Given the description of an element on the screen output the (x, y) to click on. 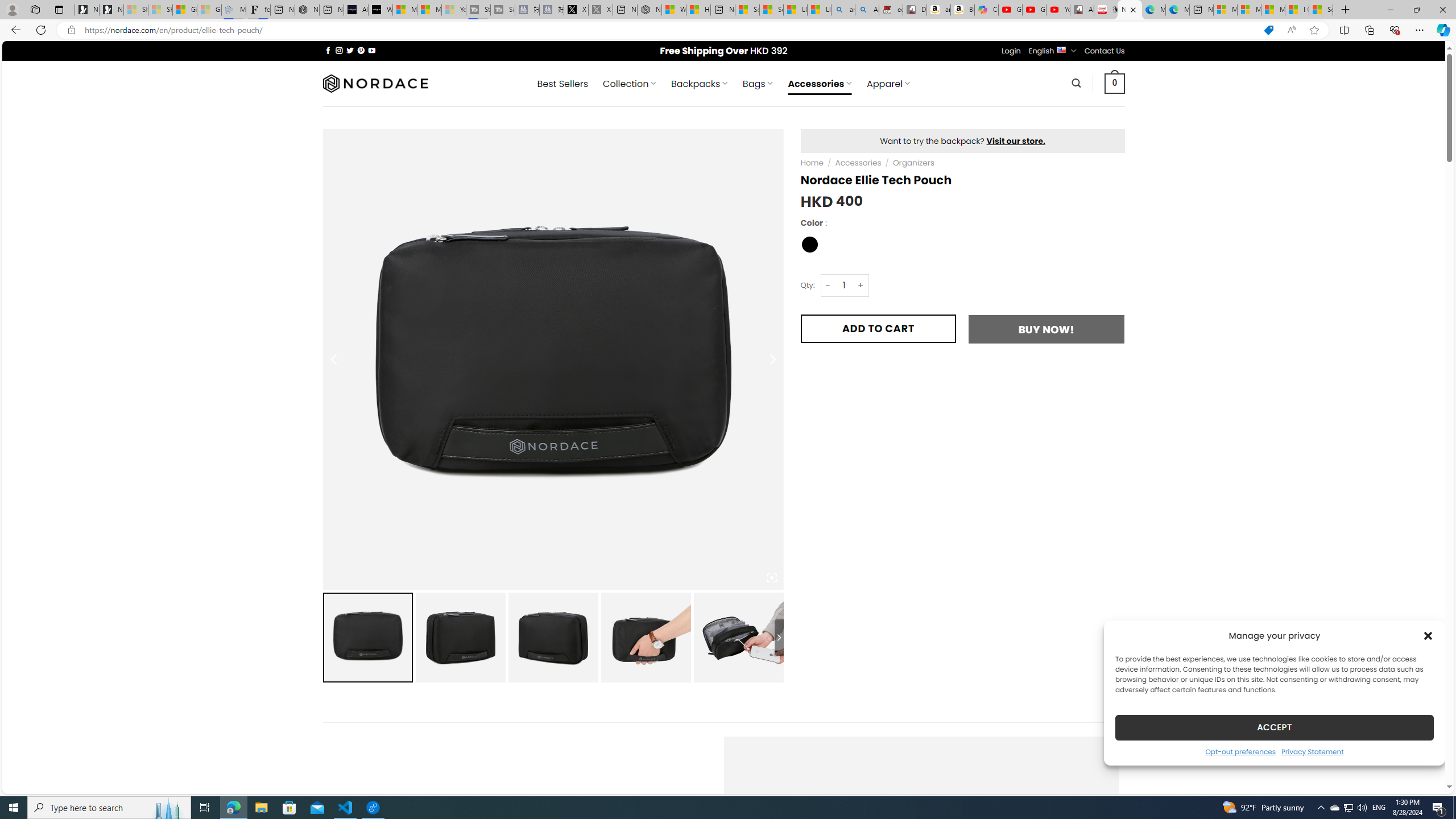
Follow on YouTube (371, 49)
BUY NOW! (1046, 329)
Copilot (986, 9)
  Best Sellers (562, 83)
Follow on Instagram (338, 49)
Amazon Echo Dot PNG - Search Images (866, 9)
